Given the description of an element on the screen output the (x, y) to click on. 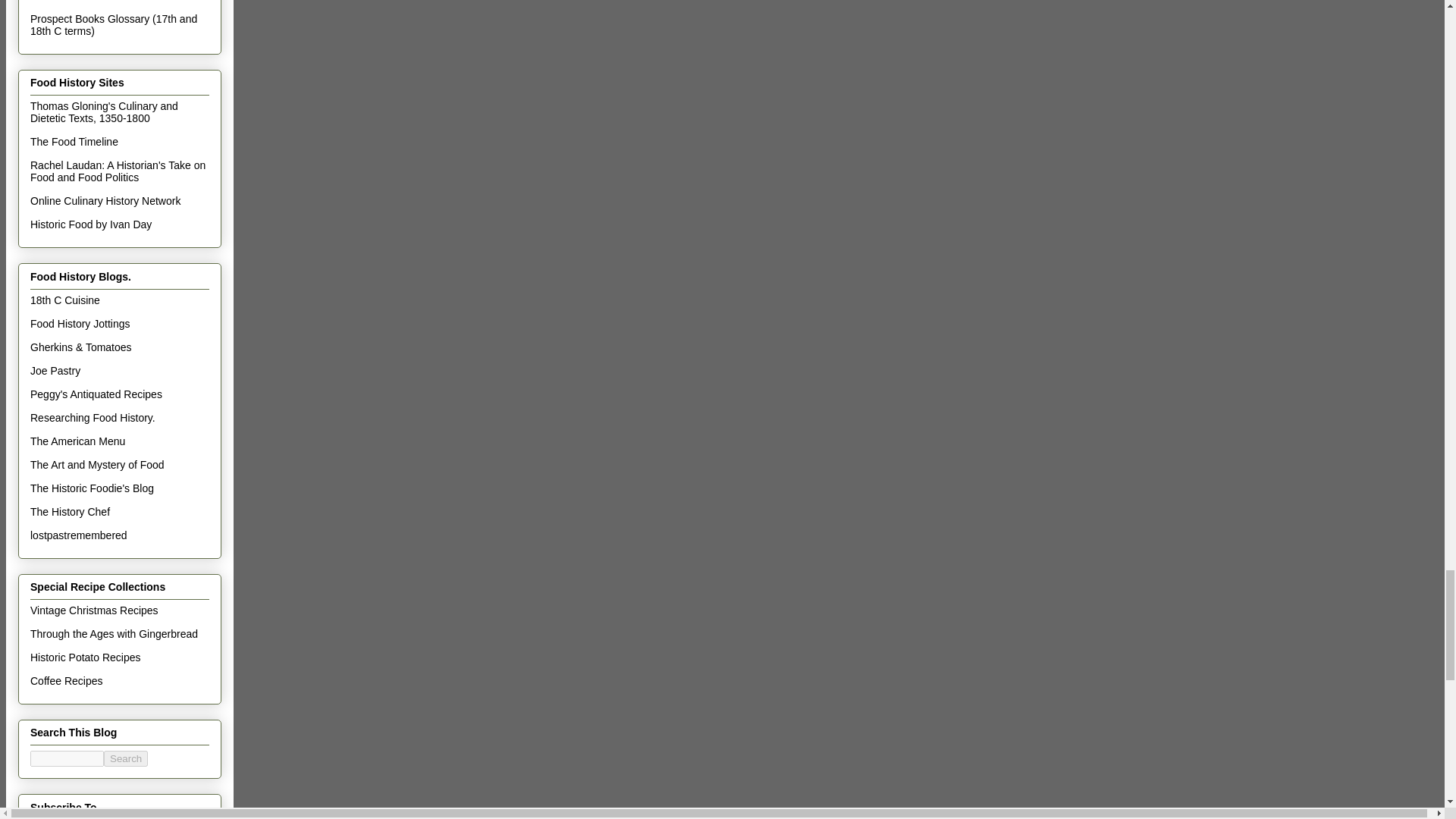
Search (125, 758)
Search (125, 758)
search (66, 758)
